Given the description of an element on the screen output the (x, y) to click on. 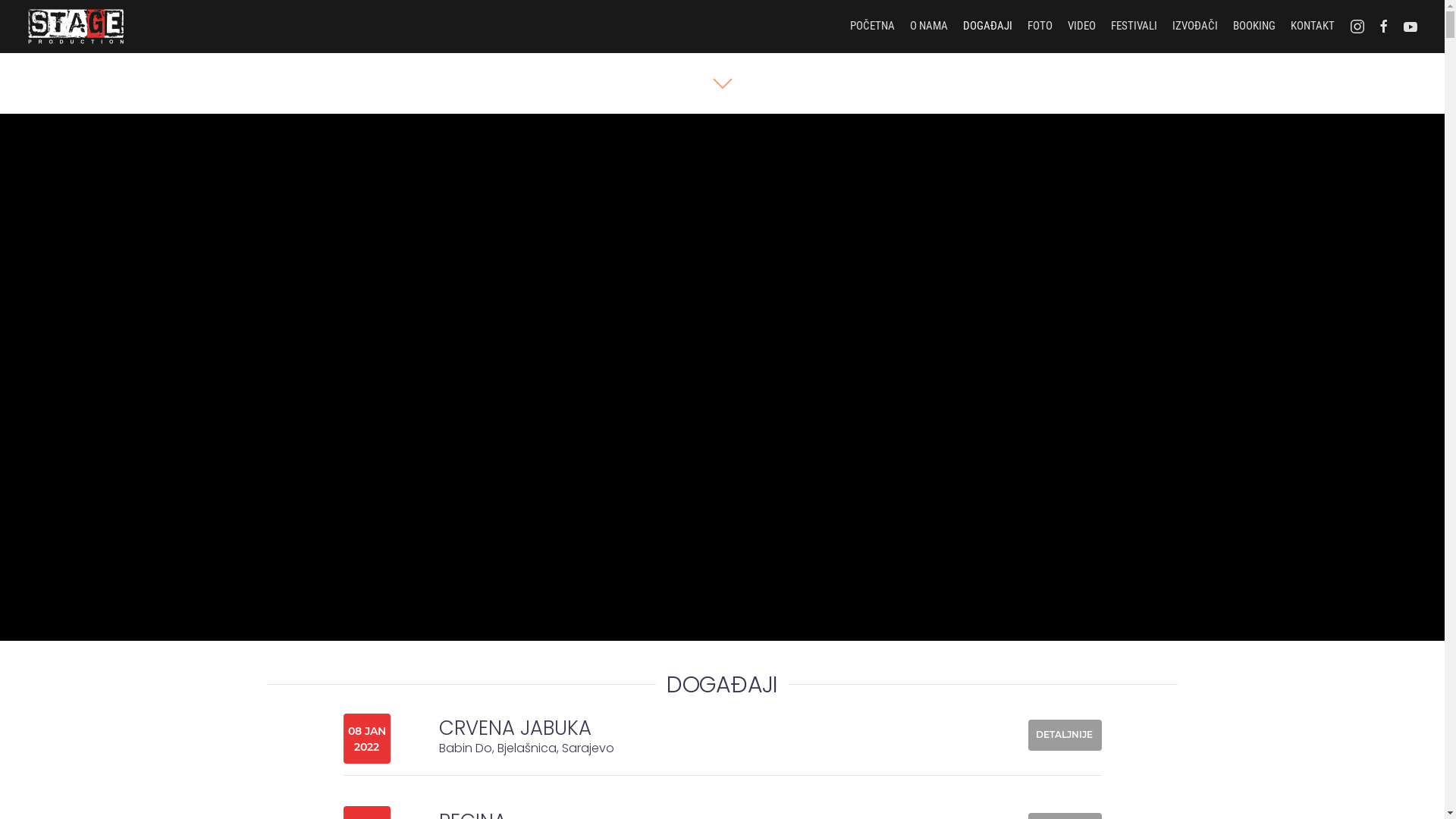
VIDEO Element type: text (1081, 26)
BOOKING Element type: text (1254, 26)
FOTO Element type: text (1039, 26)
FESTIVALI Element type: text (1133, 26)
O NAMA Element type: text (928, 26)
KONTAKT Element type: text (1312, 26)
